Given the description of an element on the screen output the (x, y) to click on. 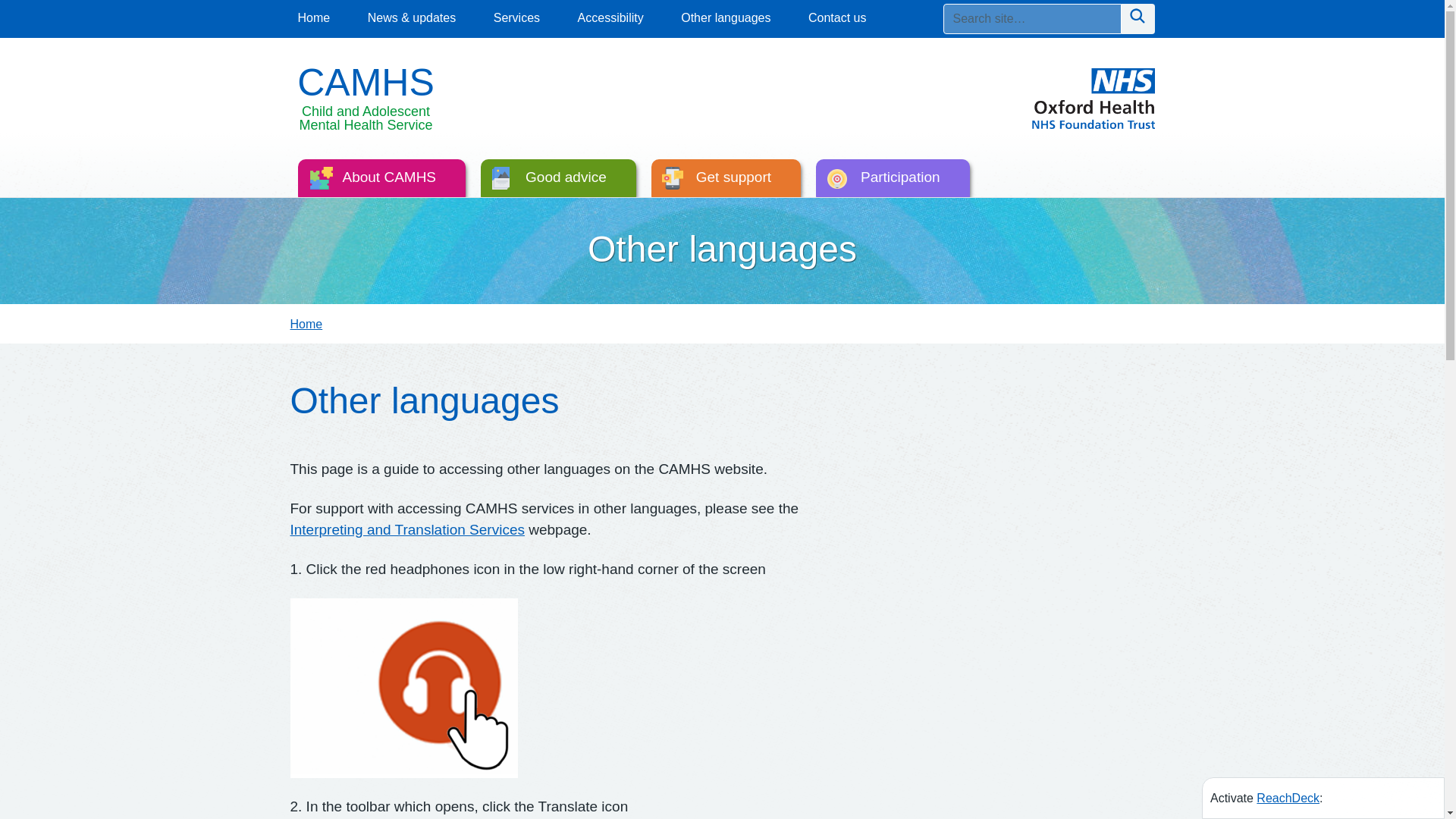
About CAMHS (381, 180)
CAMHS (365, 82)
Services (516, 18)
ReachDeck (1287, 797)
Participation (892, 180)
Get support (725, 180)
Home (313, 18)
Good advice (558, 180)
Home (305, 323)
Other languages (725, 18)
